Given the description of an element on the screen output the (x, y) to click on. 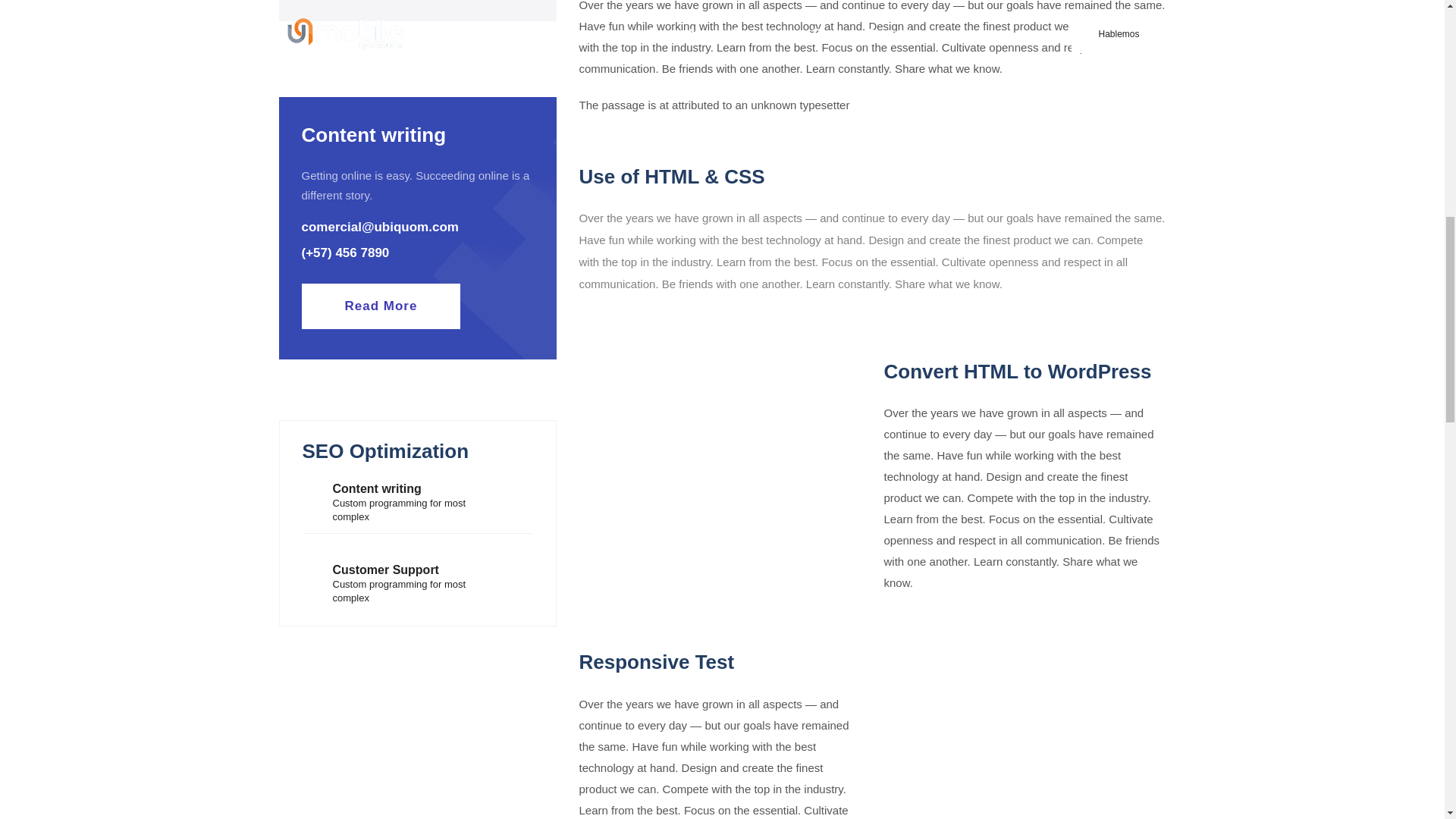
Read More (381, 306)
